Given the description of an element on the screen output the (x, y) to click on. 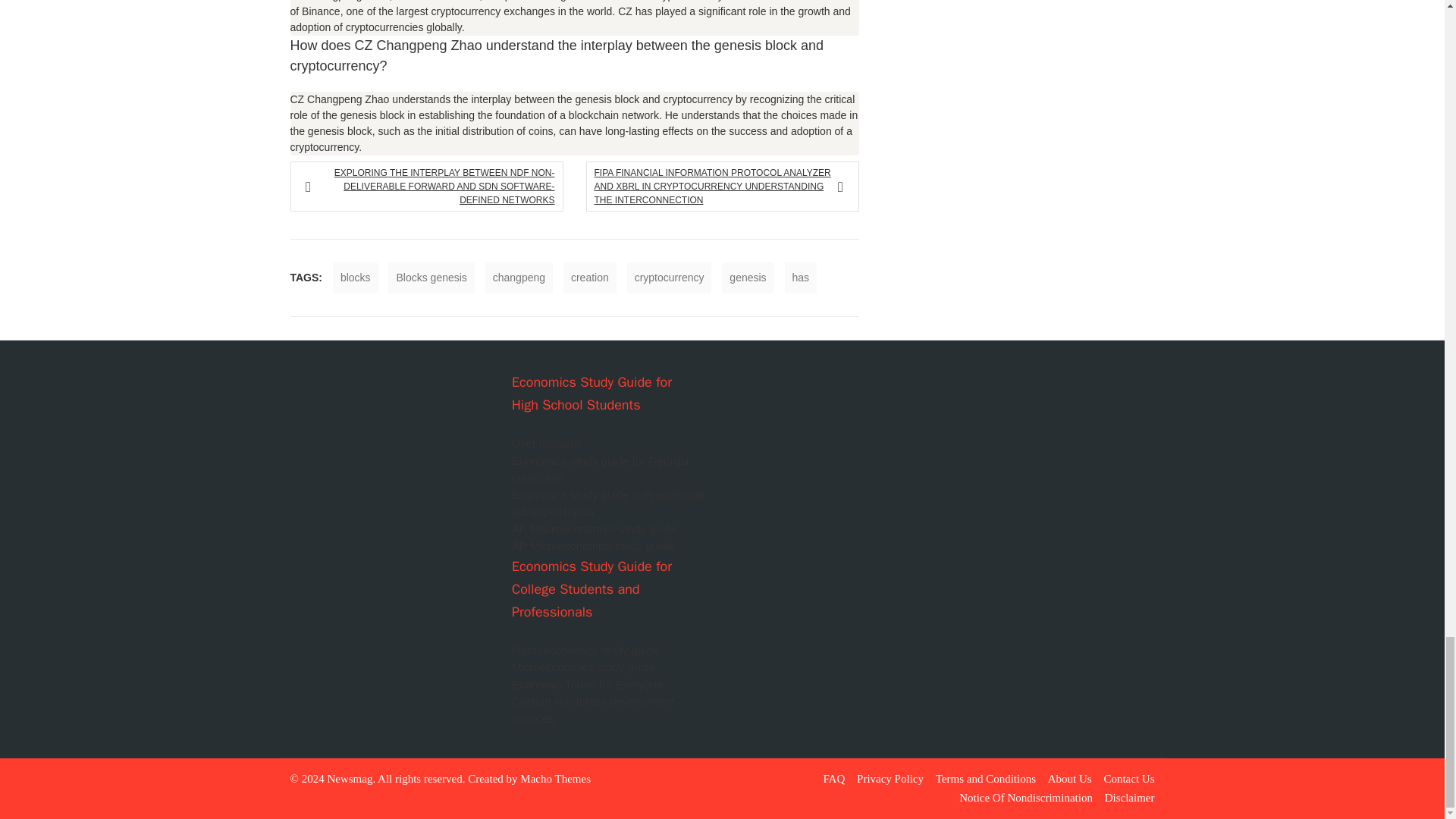
changpeng (518, 277)
blocks (355, 277)
creation (589, 277)
Blocks genesis (431, 277)
Professional WordPress Themes (555, 778)
genesis (747, 277)
has (800, 277)
cryptocurrency (669, 277)
